Given the description of an element on the screen output the (x, y) to click on. 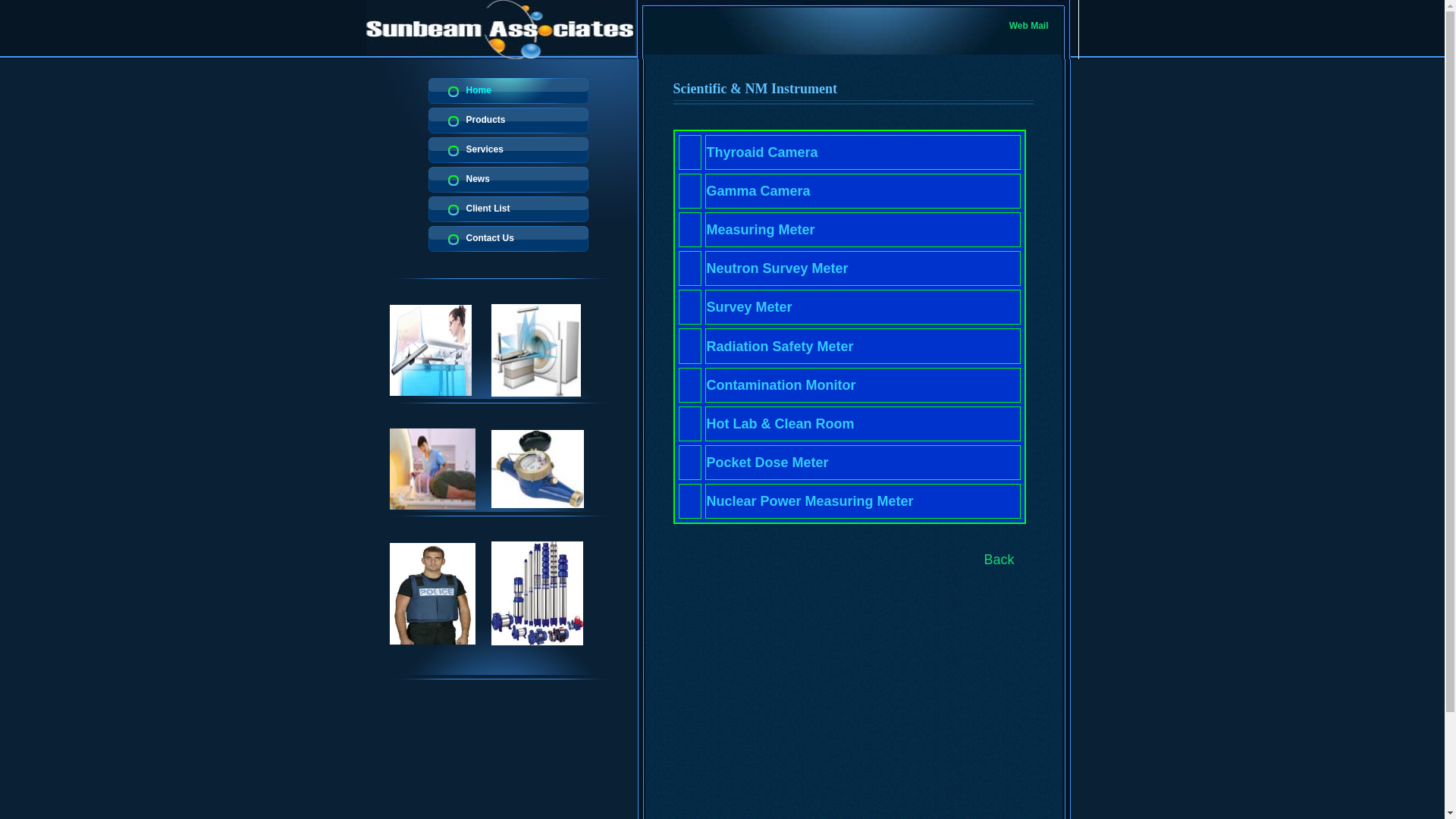
Contact Us Element type: text (507, 238)
Back Element type: text (999, 559)
Home Element type: text (507, 90)
News Element type: text (507, 179)
Services Element type: text (507, 150)
Products Element type: text (507, 120)
Web Mail Element type: text (1028, 25)
Client List Element type: text (507, 209)
